Given the description of an element on the screen output the (x, y) to click on. 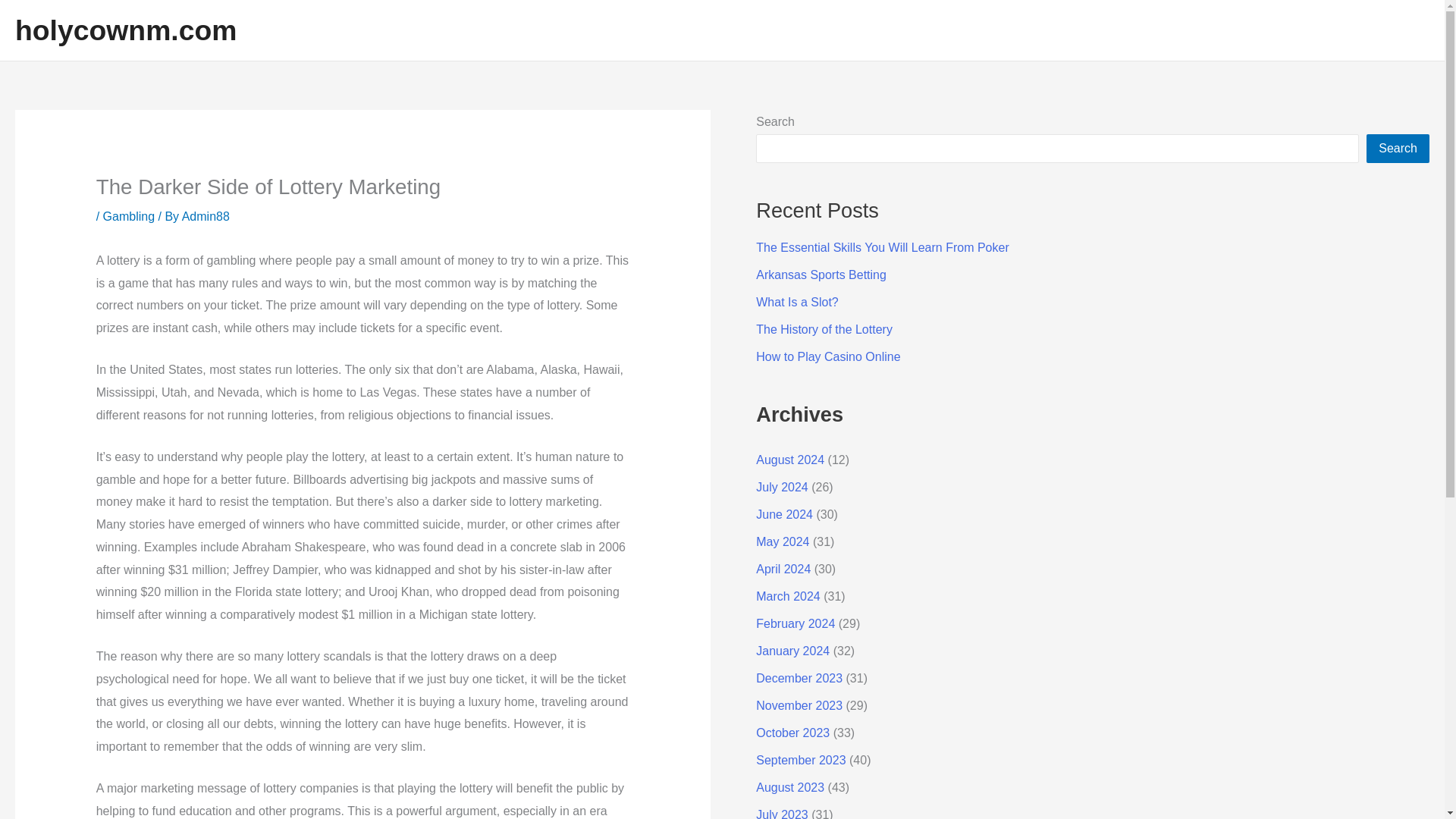
December 2023 (799, 677)
April 2024 (782, 568)
June 2024 (783, 513)
July 2023 (781, 813)
March 2024 (788, 595)
What Is a Slot? (796, 301)
January 2024 (792, 650)
Admin88 (206, 215)
View all posts by Admin88 (206, 215)
Search (1398, 148)
